Given the description of an element on the screen output the (x, y) to click on. 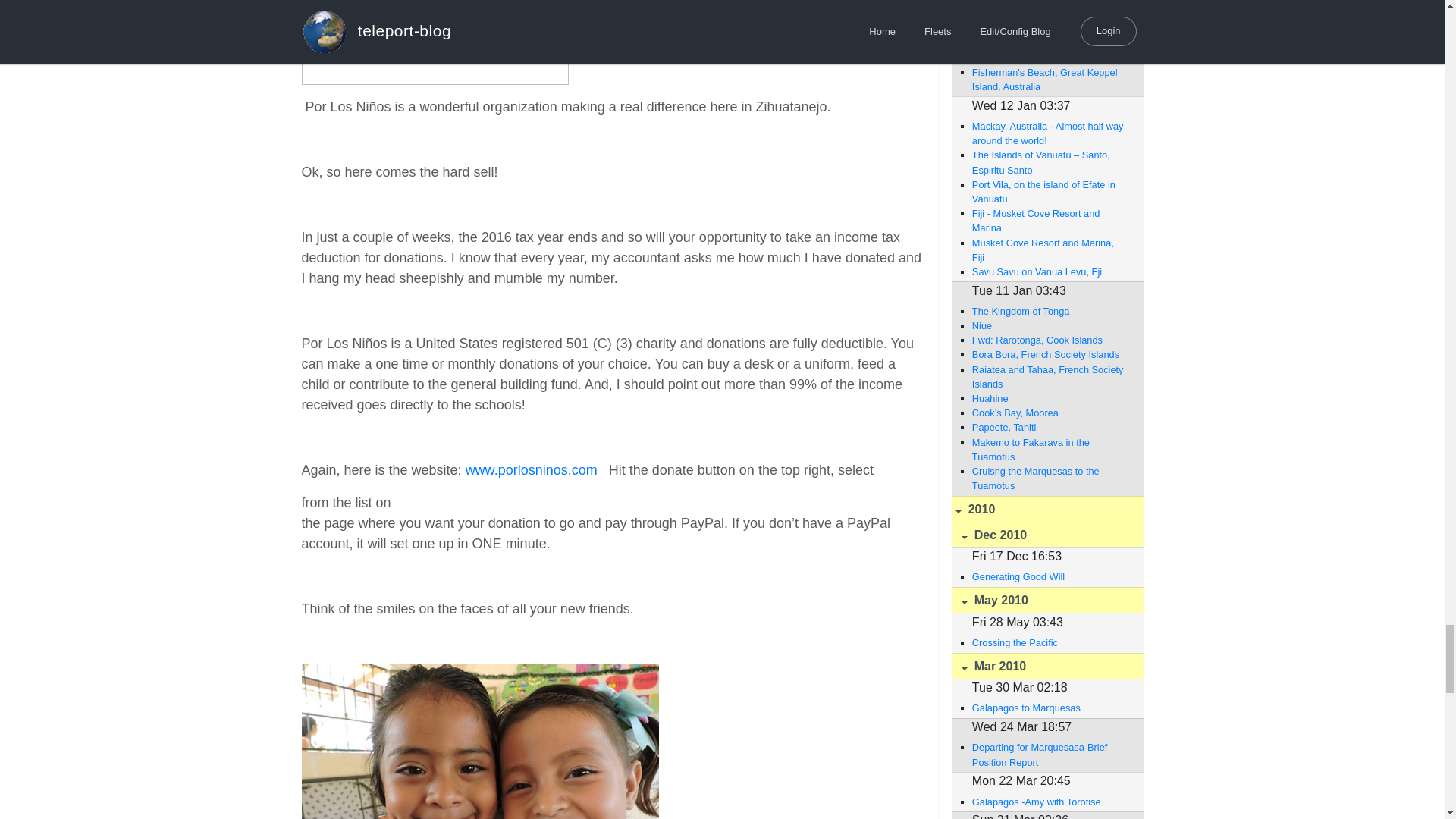
www.porlosninos.com (530, 469)
